Given the description of an element on the screen output the (x, y) to click on. 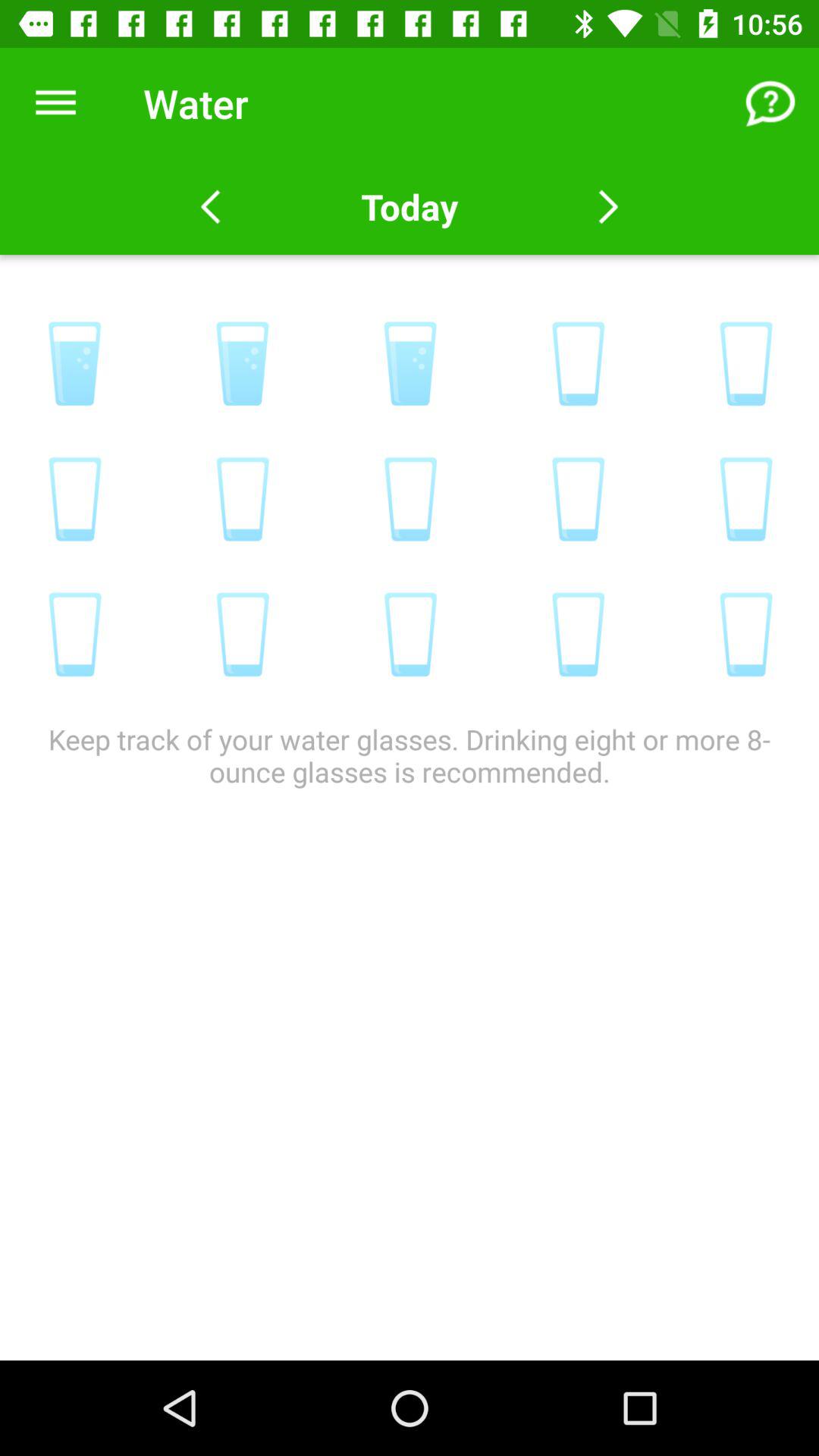
click icon next to the water item (55, 103)
